Given the description of an element on the screen output the (x, y) to click on. 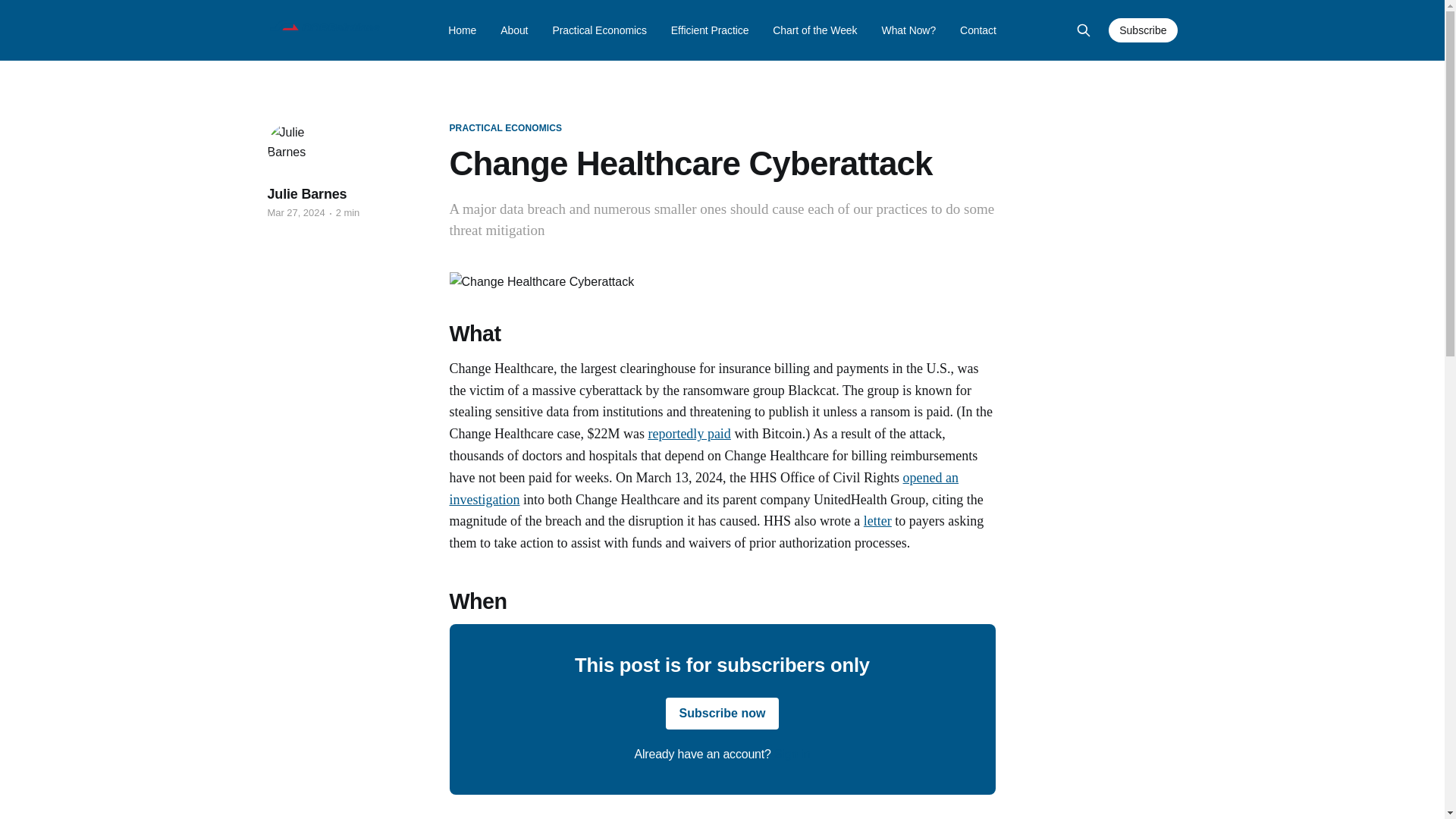
Practical Economics (598, 30)
Contact (977, 30)
reportedly paid (688, 433)
letter (877, 520)
Subscribe (1142, 30)
Julie Barnes (306, 194)
Efficient Practice (710, 30)
About (513, 30)
Home (462, 30)
opened an investigation (703, 488)
Subscribe now (721, 713)
PRACTICAL ECONOMICS (505, 128)
Sign in (792, 753)
Chart of the Week (815, 30)
What Now? (908, 30)
